Given the description of an element on the screen output the (x, y) to click on. 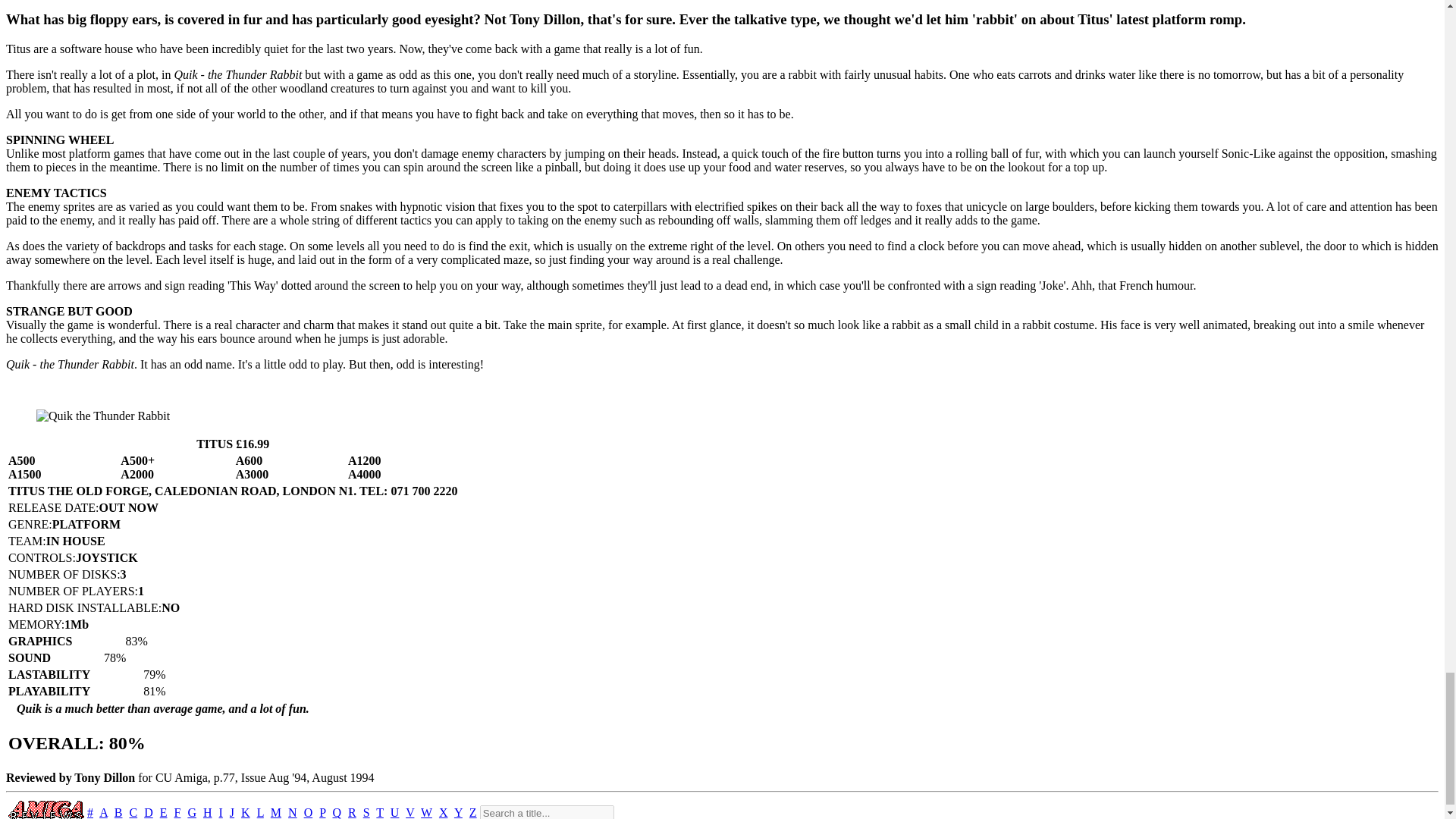
L (260, 812)
T (378, 812)
X (443, 812)
U (394, 812)
M (275, 812)
Y (458, 812)
G (191, 812)
B (118, 812)
I (220, 812)
K (245, 812)
C (132, 812)
F (176, 812)
A (103, 812)
V (409, 812)
D (148, 812)
